Given the description of an element on the screen output the (x, y) to click on. 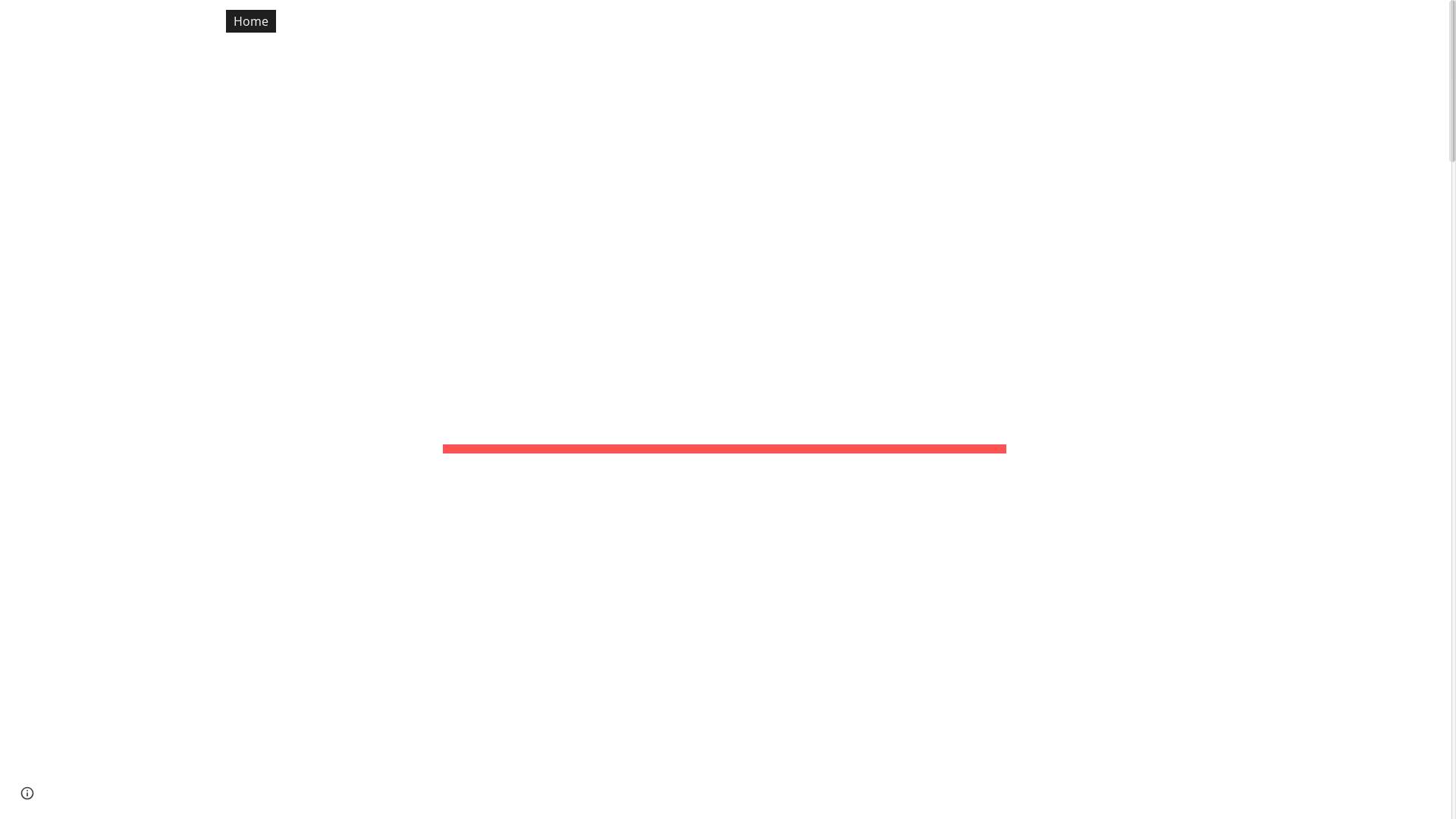
Energy Element type: text (516, 20)
Careful Consumer Element type: text (909, 20)
Expand/Collapse Element type: hover (1401, 20)
Investments Element type: text (688, 20)
Status & Scale Element type: text (334, 20)
Retirement Element type: text (594, 20)
Be a change maker Element type: text (1042, 20)
Why Act Element type: text (1305, 20)
My Checklist Element type: text (436, 20)
Plant Rich Diet Element type: text (790, 20)
Business / Government Element type: text (1189, 20)
myclimateaction.com Element type: text (84, 18)
More Element type: text (1369, 20)
Home Element type: text (250, 20)
